Given the description of an element on the screen output the (x, y) to click on. 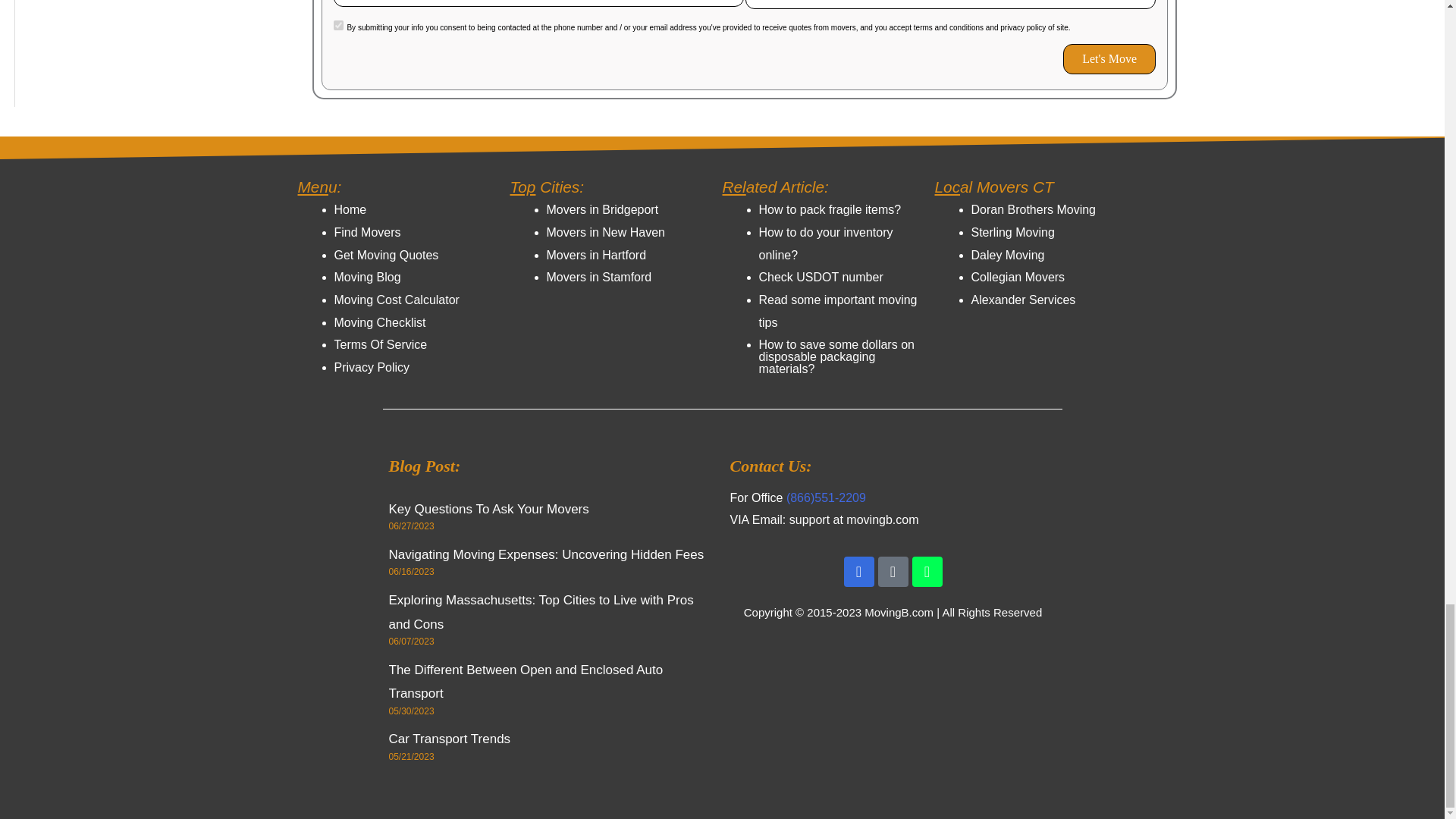
on (338, 25)
